Given the description of an element on the screen output the (x, y) to click on. 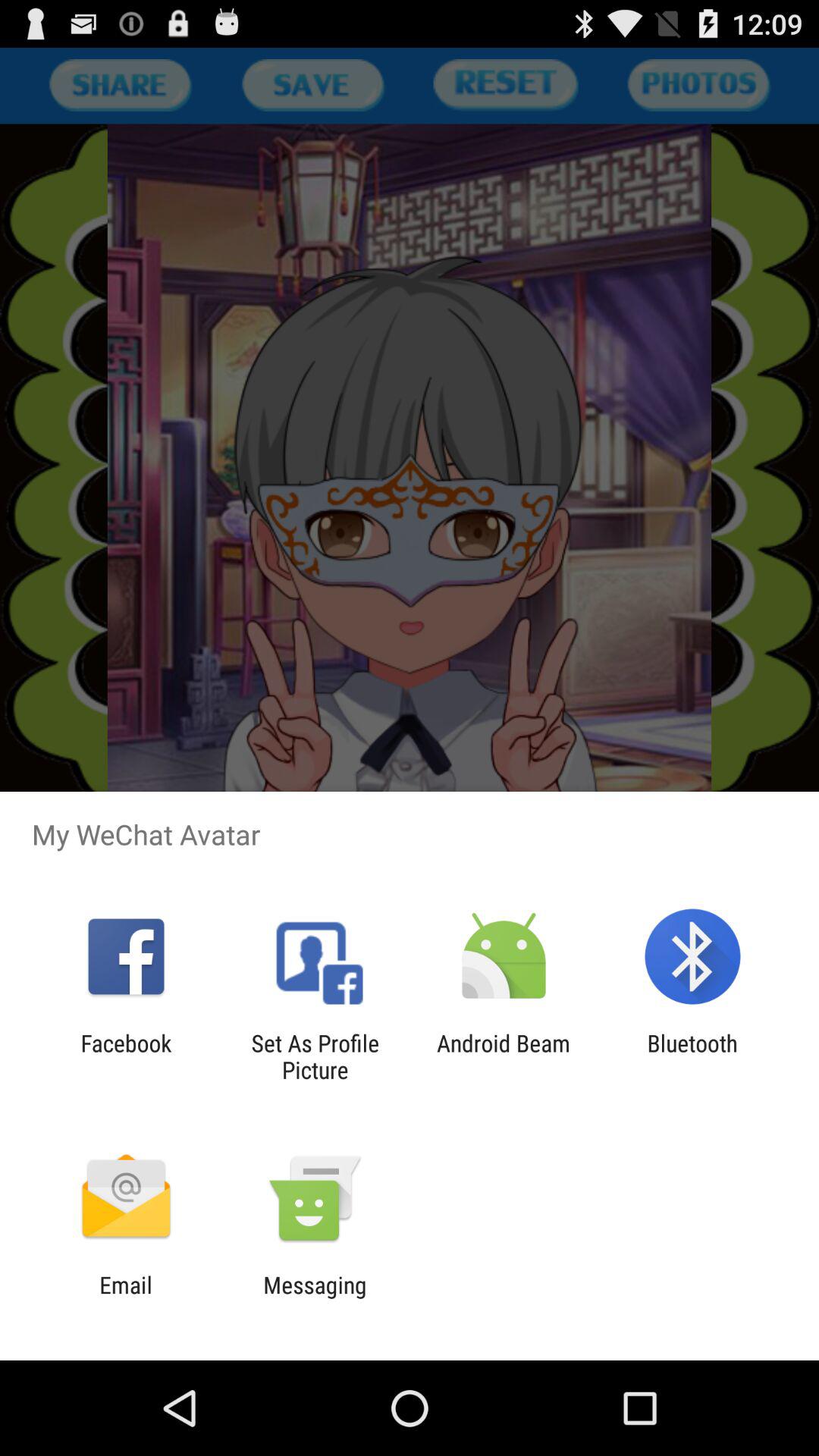
press app to the right of android beam item (692, 1056)
